Given the description of an element on the screen output the (x, y) to click on. 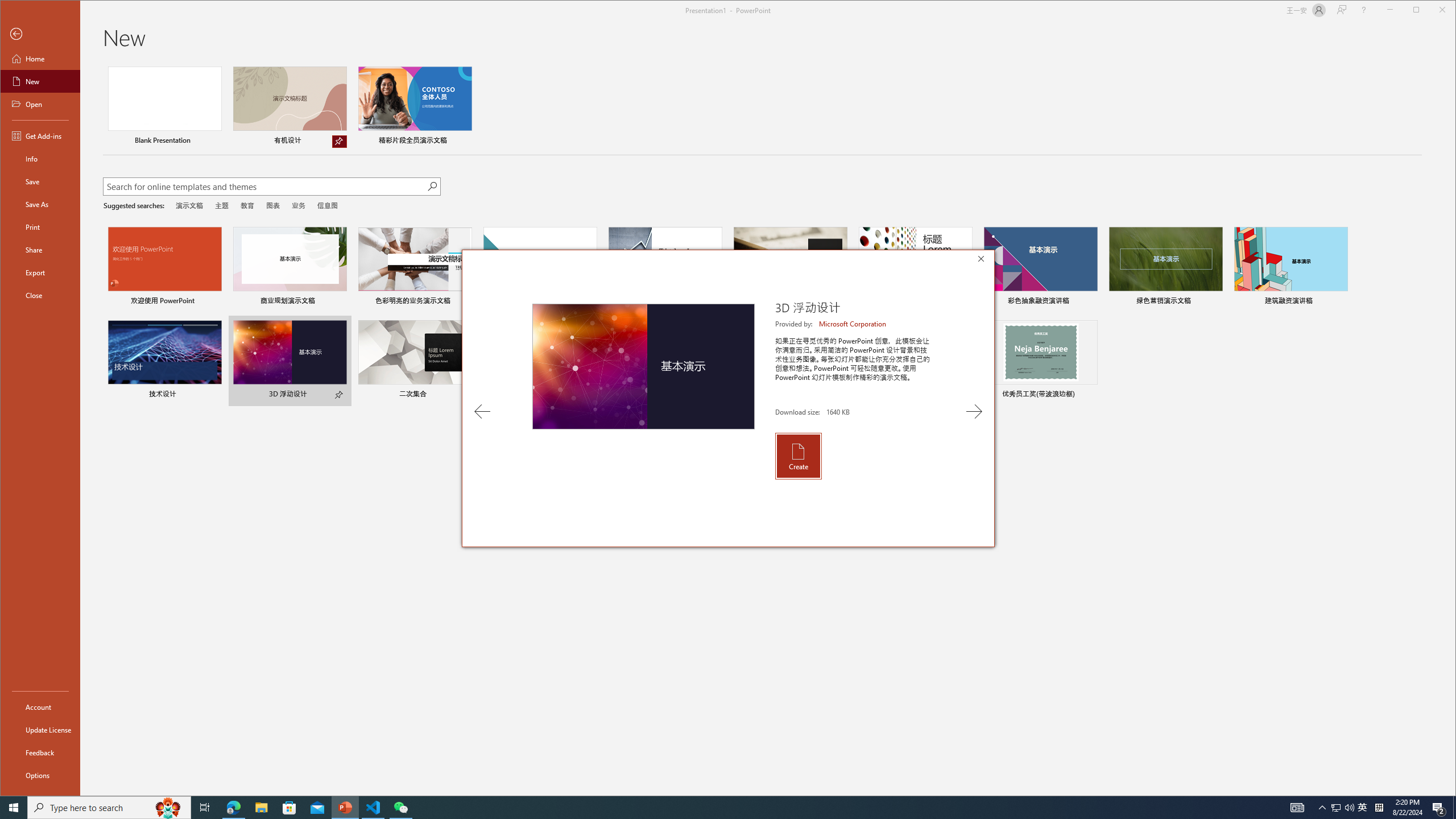
Blank Presentation (164, 107)
Account (40, 706)
Export (40, 272)
Unpin from list (338, 141)
Start searching (431, 185)
Class: NetUIScrollBar (1450, 428)
